Given the description of an element on the screen output the (x, y) to click on. 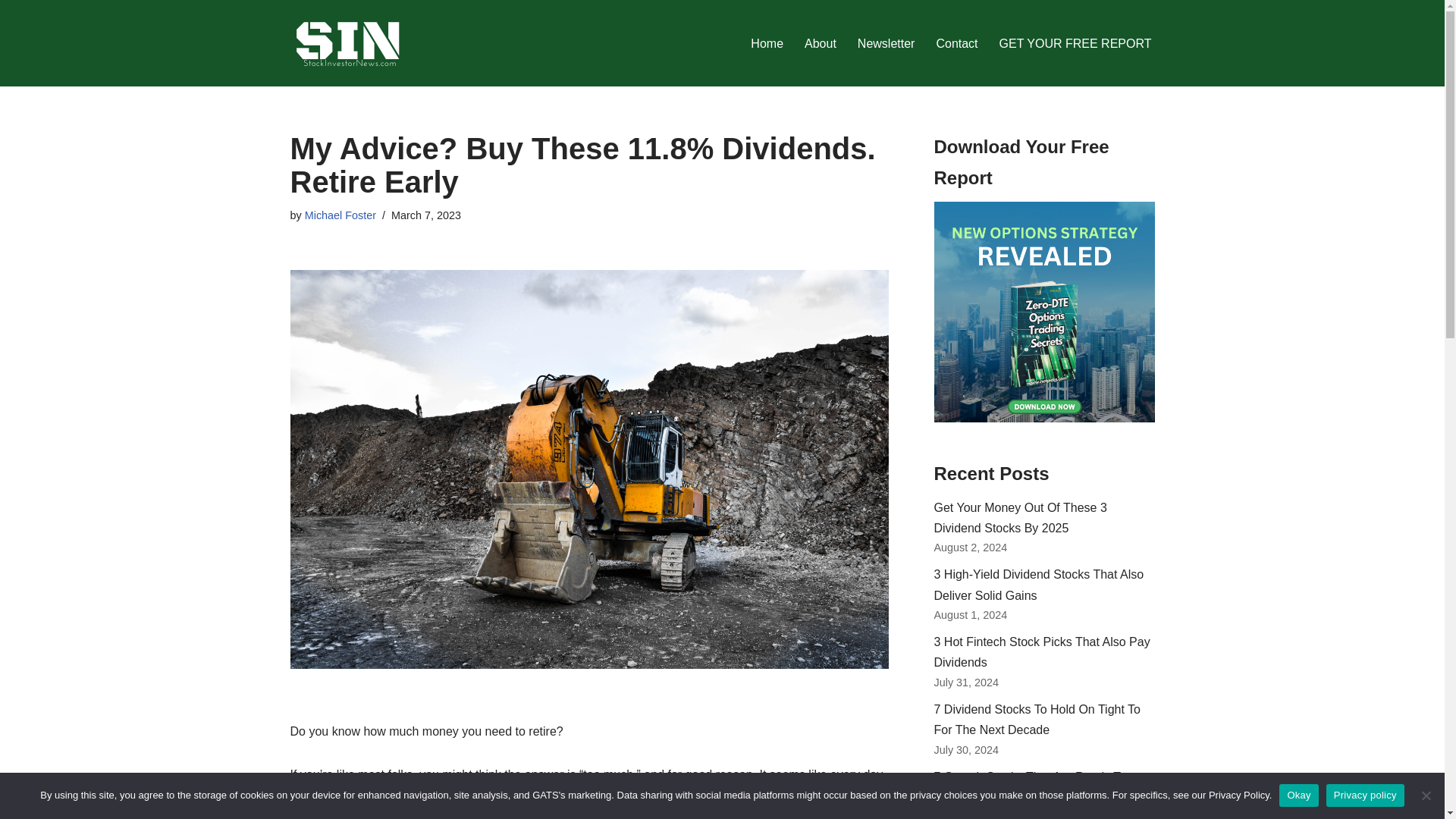
No (1425, 795)
About (820, 43)
Home (767, 43)
Contact (956, 43)
3 High-Yield Dividend Stocks That Also Deliver Solid Gains (1039, 584)
3 Hot Fintech Stock Picks That Also Pay Dividends (1042, 652)
Download Your Free Report (1044, 311)
Michael Foster (339, 215)
Posts by Michael Foster (339, 215)
Get Your Money Out Of These 3 Dividend Stocks By 2025 (1020, 517)
7 Dividend Stocks To Hold On Tight To For The Next Decade (1037, 719)
Skip to content (11, 31)
7 Growth Stocks That Are Ready To Beat The Market (1030, 786)
Newsletter (886, 43)
GET YOUR FREE REPORT (1074, 43)
